Given the description of an element on the screen output the (x, y) to click on. 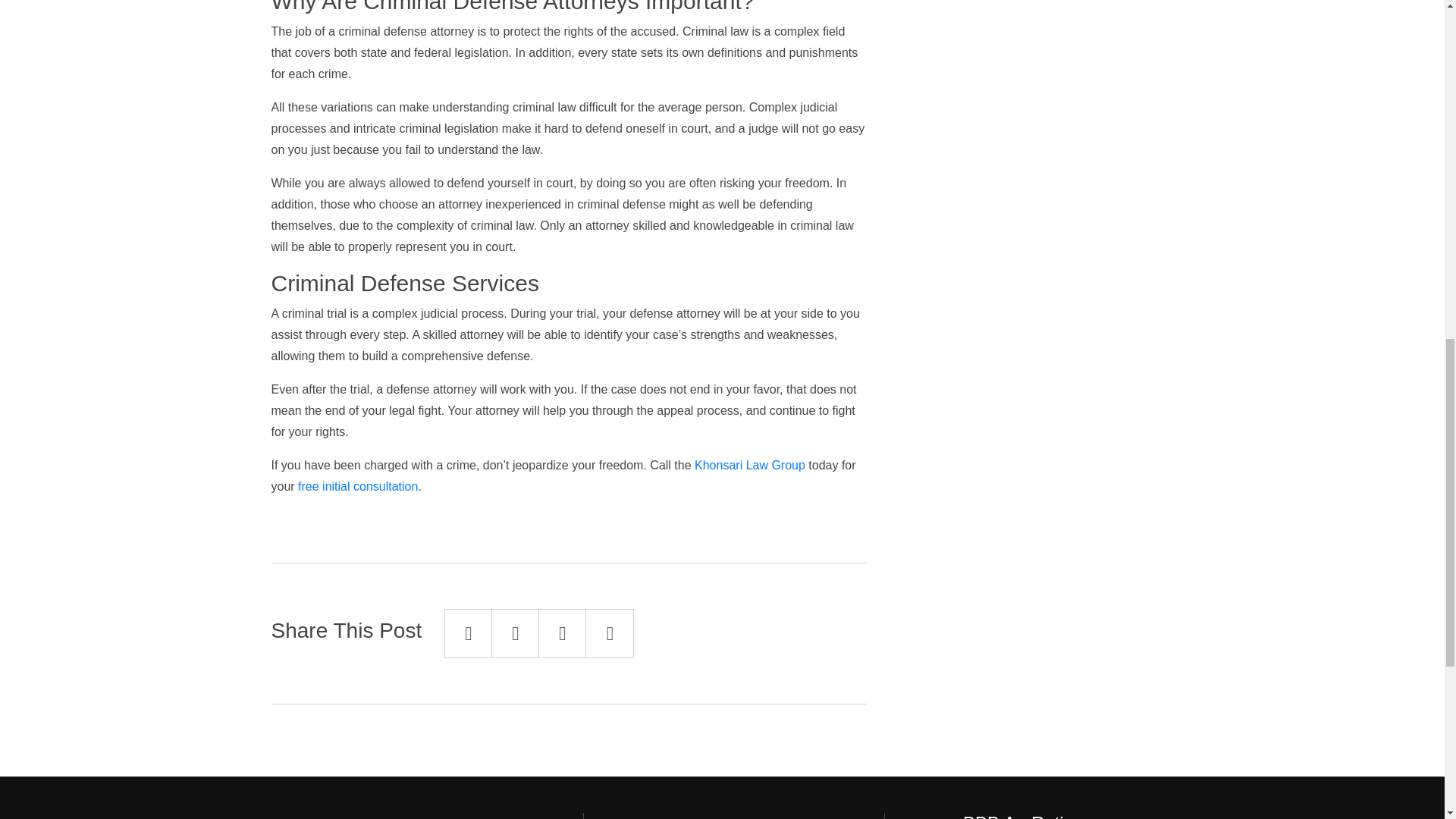
Khonsari Law Group (749, 464)
free initial consultation (357, 486)
